Given the description of an element on the screen output the (x, y) to click on. 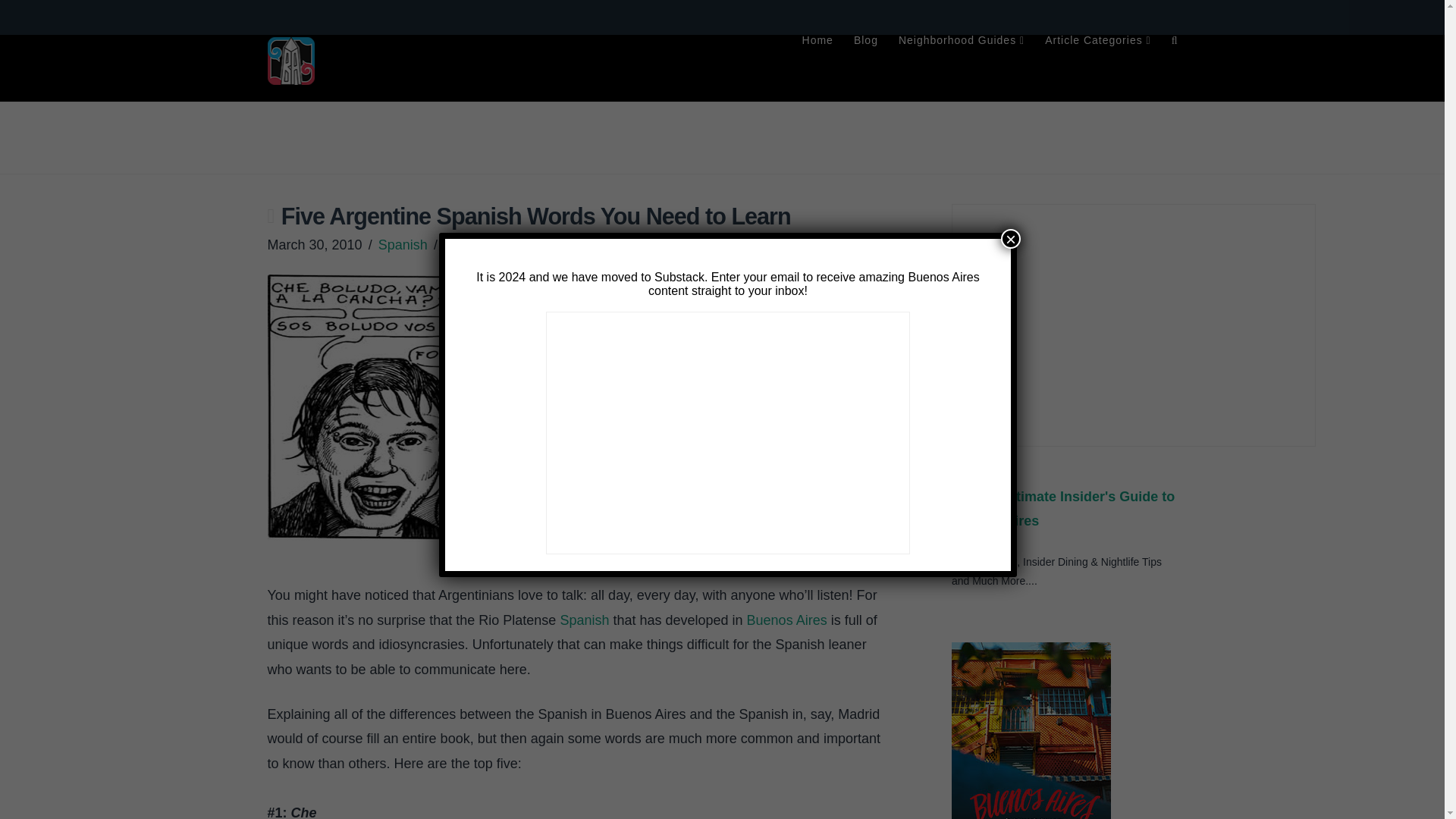
Home (817, 68)
boludos (444, 408)
Neighborhood Guides (960, 68)
Blog (865, 68)
